Given the description of an element on the screen output the (x, y) to click on. 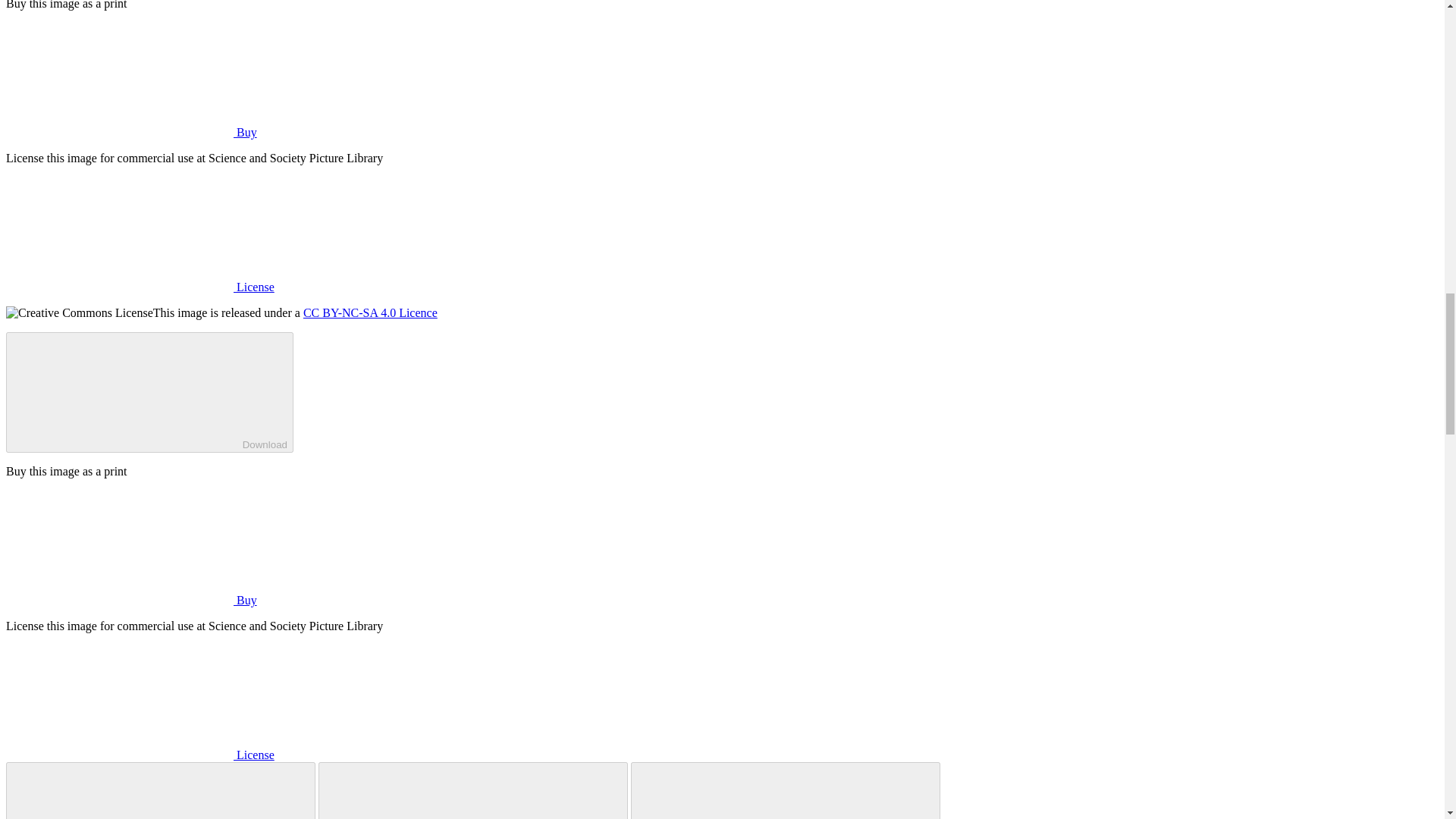
Buy (131, 132)
